Given the description of an element on the screen output the (x, y) to click on. 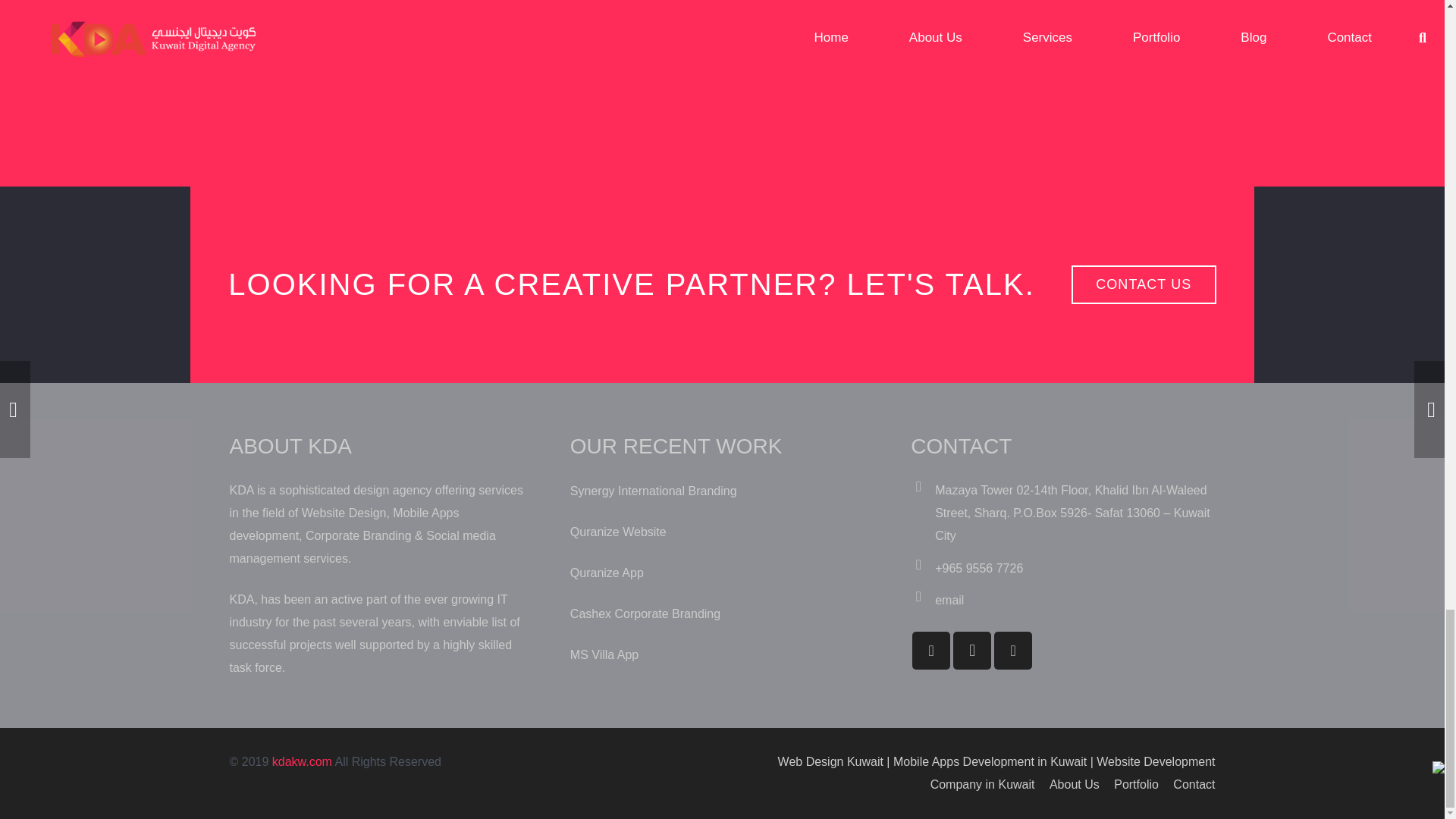
Facebook (931, 650)
CONTACT US (1143, 284)
email (948, 599)
Twitter (1013, 650)
Quranize Website (618, 531)
MS Villa App (604, 654)
Quranize App (606, 572)
Instagram (972, 650)
Synergy International Branding (653, 490)
Cashex Corporate Branding (645, 613)
